Given the description of an element on the screen output the (x, y) to click on. 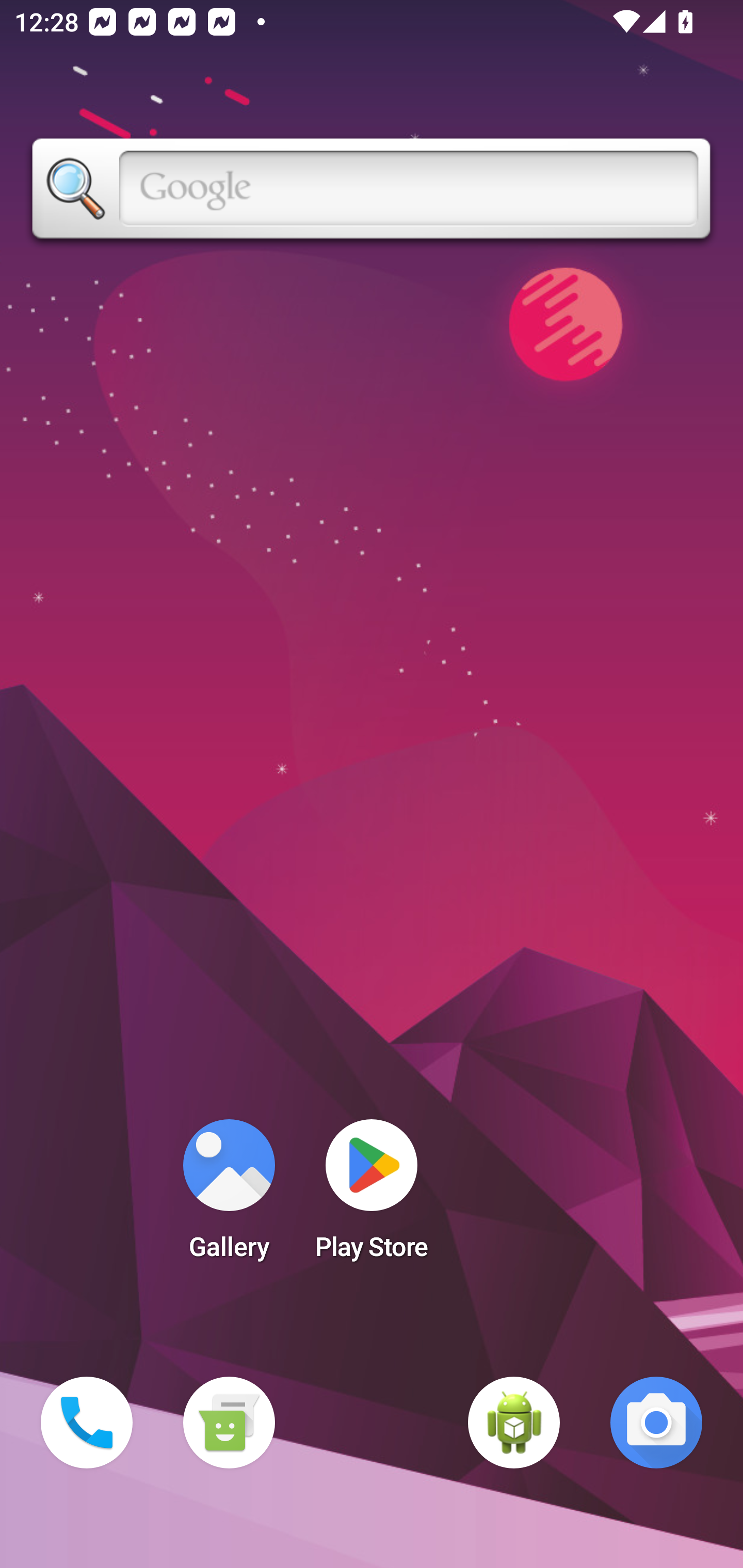
Gallery (228, 1195)
Play Store (371, 1195)
Phone (86, 1422)
Messaging (228, 1422)
WebView Browser Tester (513, 1422)
Camera (656, 1422)
